Given the description of an element on the screen output the (x, y) to click on. 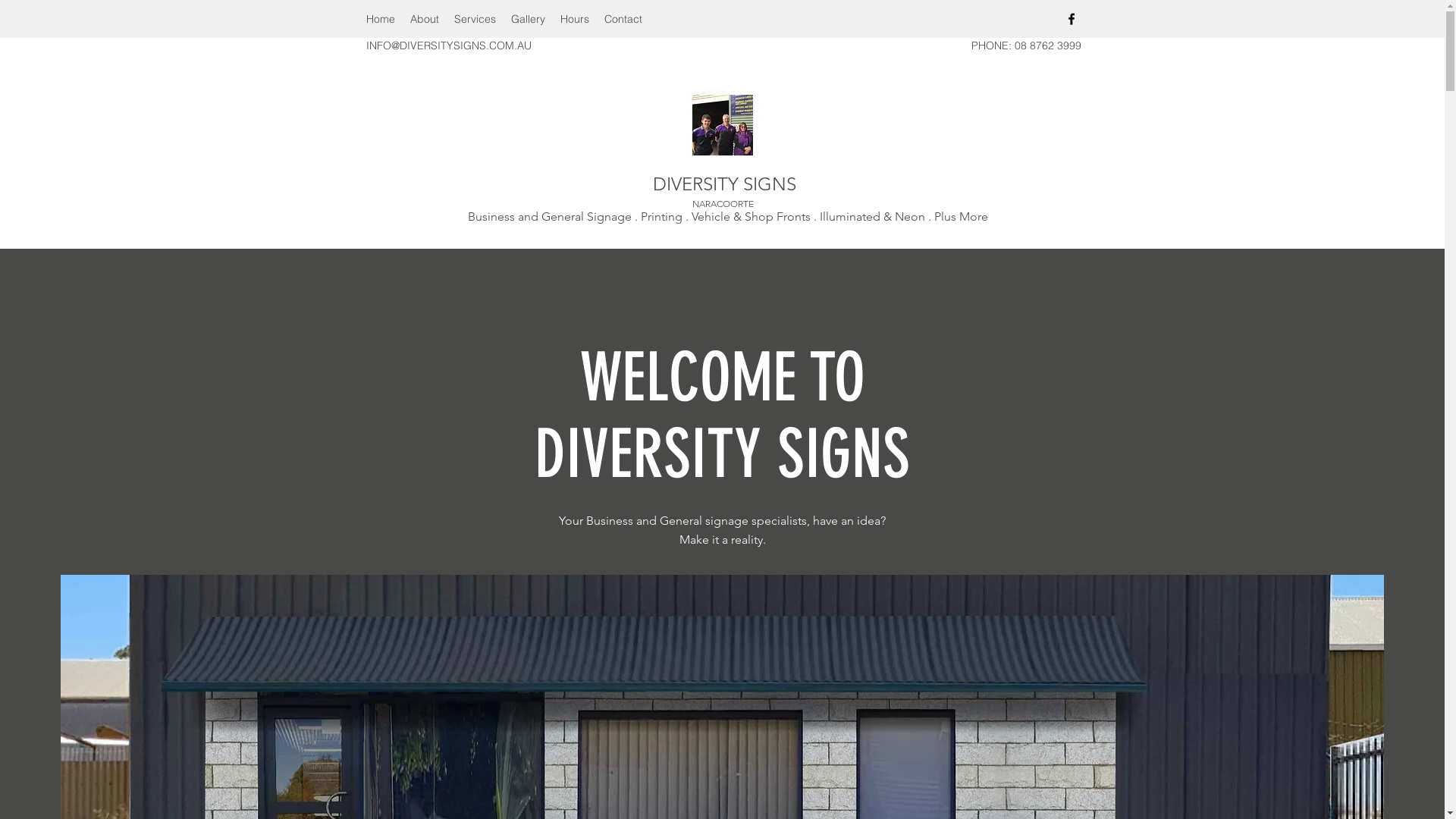
Hours Element type: text (574, 18)
Services Element type: text (473, 18)
About Element type: text (423, 18)
Contact Element type: text (622, 18)
Home Element type: text (379, 18)
INFO@DIVERSITYSIGNS.COM.AU Element type: text (447, 45)
Gallery Element type: text (527, 18)
